Given the description of an element on the screen output the (x, y) to click on. 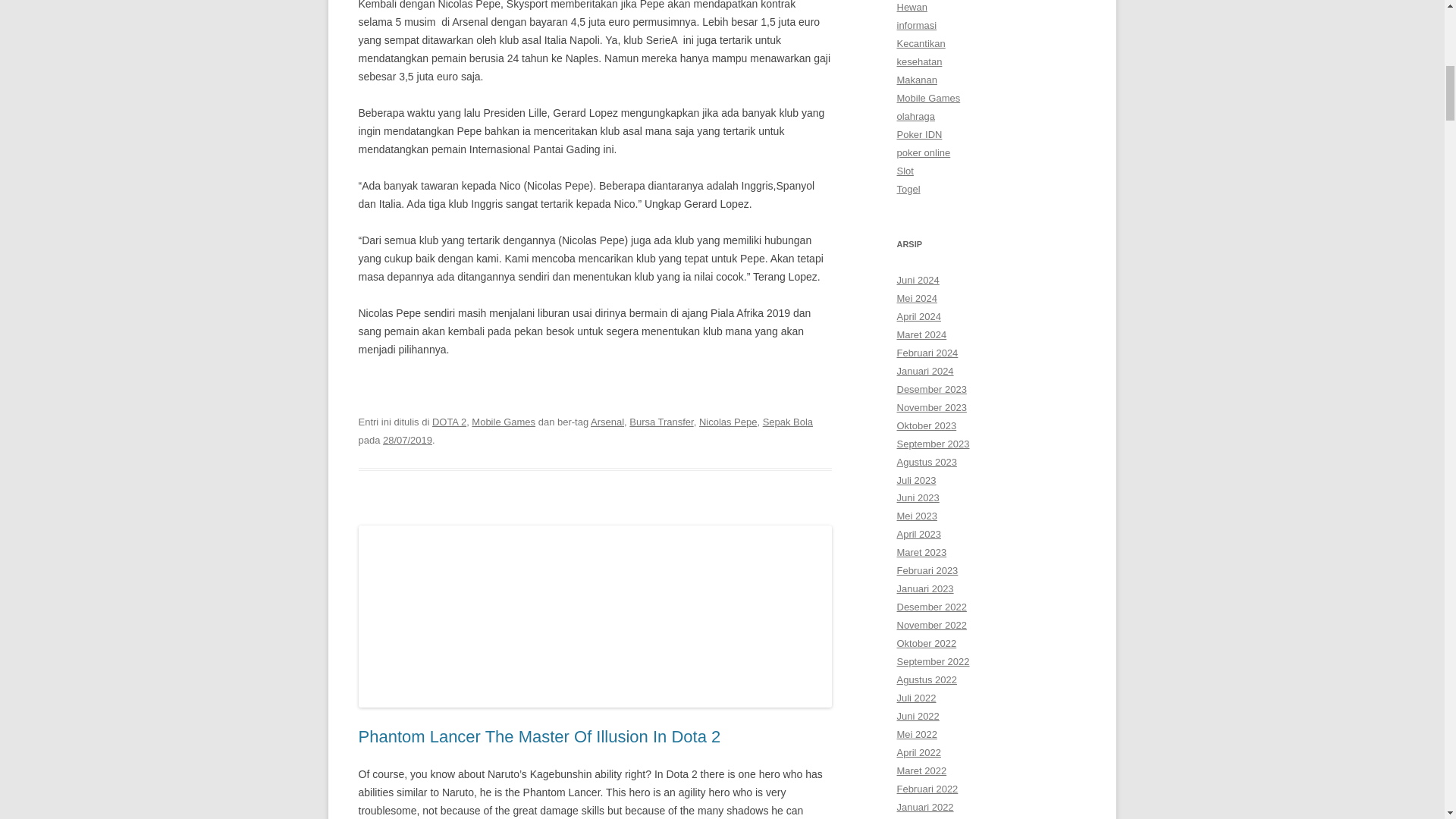
Bursa Transfer (660, 421)
22:28 (407, 439)
Sepak Bola (787, 421)
DOTA 2 (448, 421)
Nicolas Pepe (727, 421)
Phantom Lancer The Master Of Illusion In Dota 2 (539, 736)
Arsenal (607, 421)
Mobile Games (503, 421)
